Given the description of an element on the screen output the (x, y) to click on. 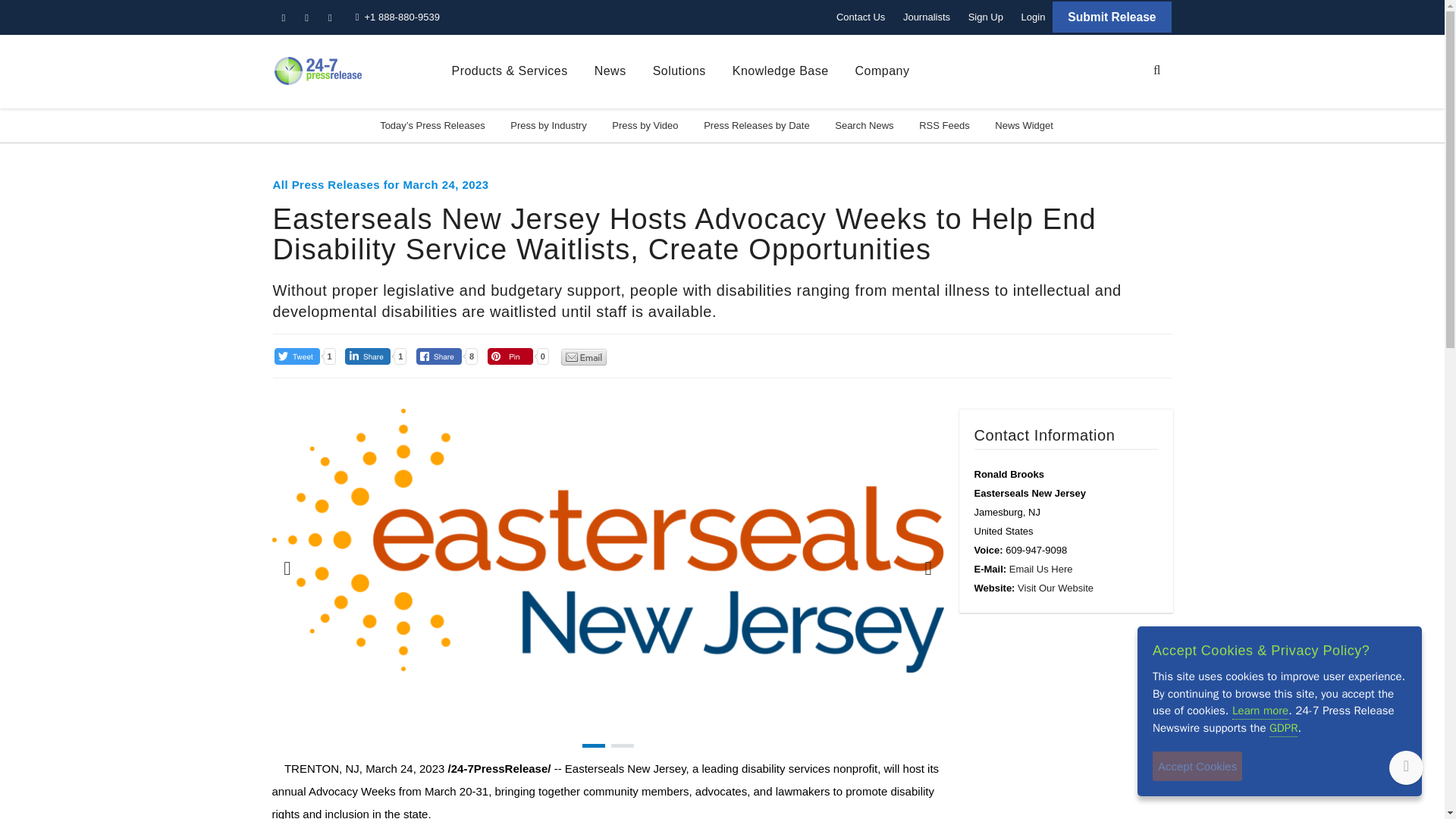
Solutions (679, 71)
Login (1032, 16)
Contact Us (860, 16)
Knowledge Base (780, 71)
Company (882, 71)
Submit Release (1111, 16)
Sign Up (985, 16)
Journalists (926, 16)
